Given the description of an element on the screen output the (x, y) to click on. 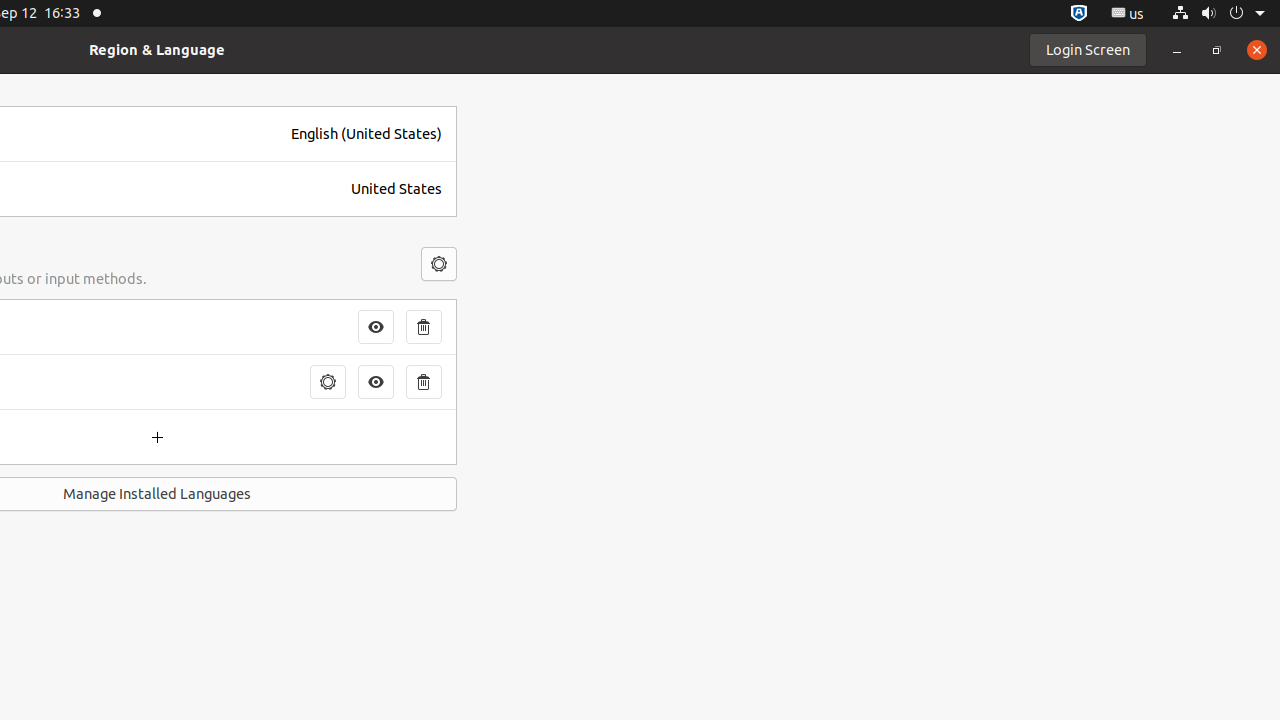
United States Element type: label (396, 189)
English (United States) Element type: label (366, 134)
Menu Element type: toggle-button (439, 264)
